Given the description of an element on the screen output the (x, y) to click on. 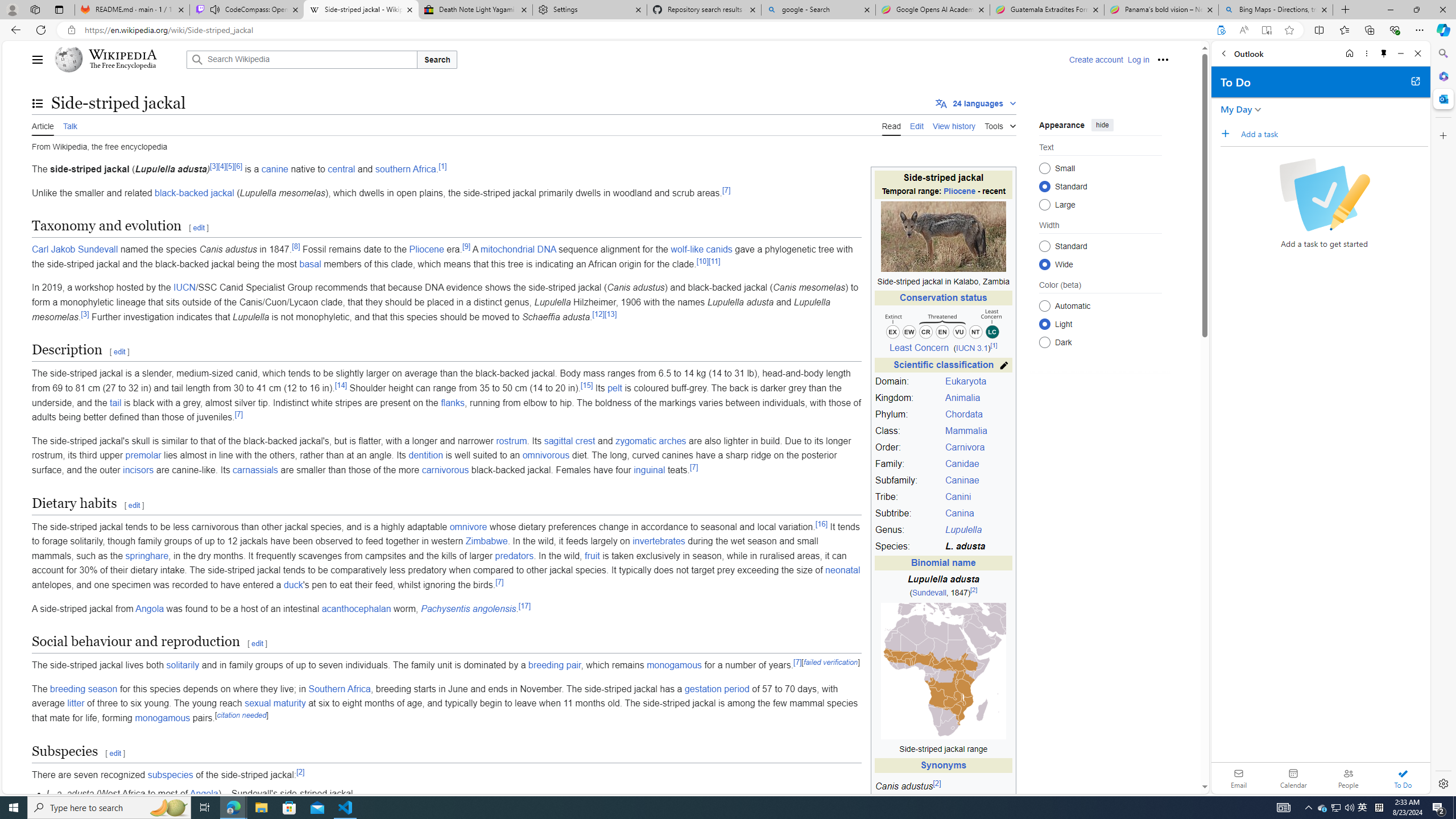
Canidae (977, 464)
carnassials (255, 469)
Edit this classification (1004, 365)
edit (115, 752)
invertebrates (658, 541)
hide (1102, 124)
carnivorous (444, 469)
[11] (714, 260)
mitochondrial DNA (518, 249)
Toggle the table of contents (37, 103)
